Given the description of an element on the screen output the (x, y) to click on. 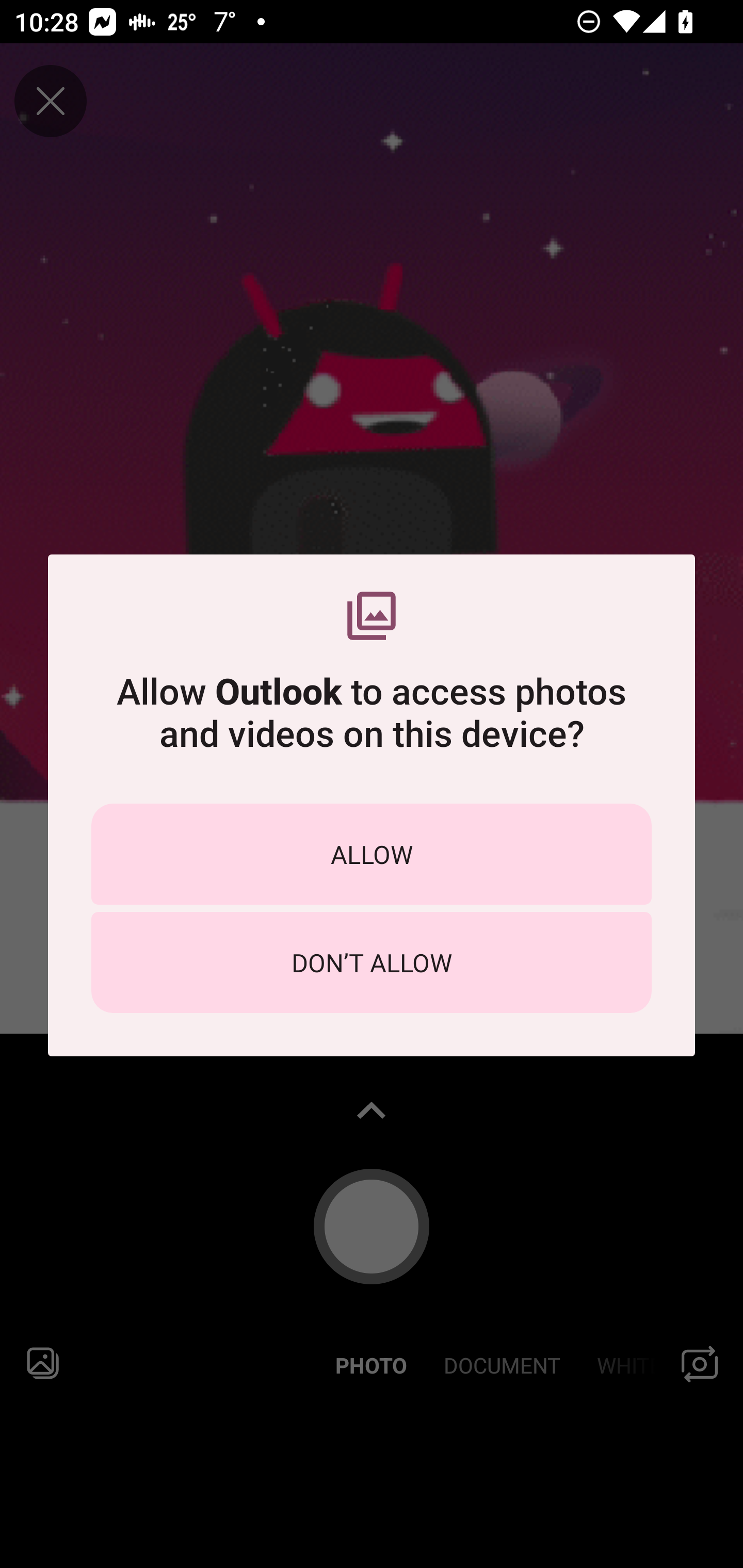
ALLOW (371, 853)
DON’T ALLOW (371, 962)
